Given the description of an element on the screen output the (x, y) to click on. 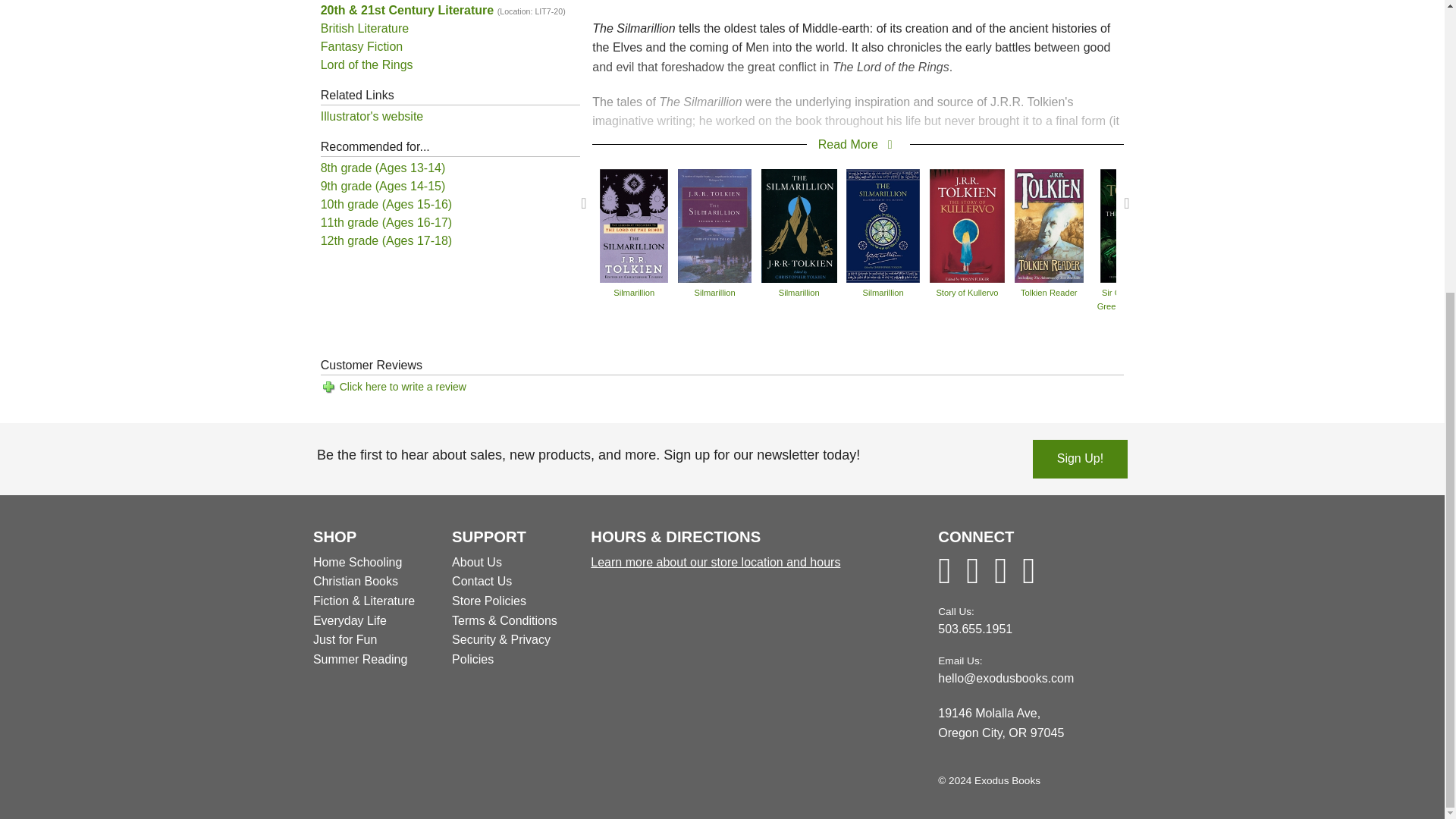
Silmarillion (799, 224)
Tolkien Reader (1048, 224)
Silmarillion (882, 224)
Unfinished Tales Illustrated Edition (1336, 224)
Silmarillion (633, 224)
Silmarillion (715, 224)
Story of Kullervo (968, 224)
Complete Tolkien Companion (1236, 224)
